Given the description of an element on the screen output the (x, y) to click on. 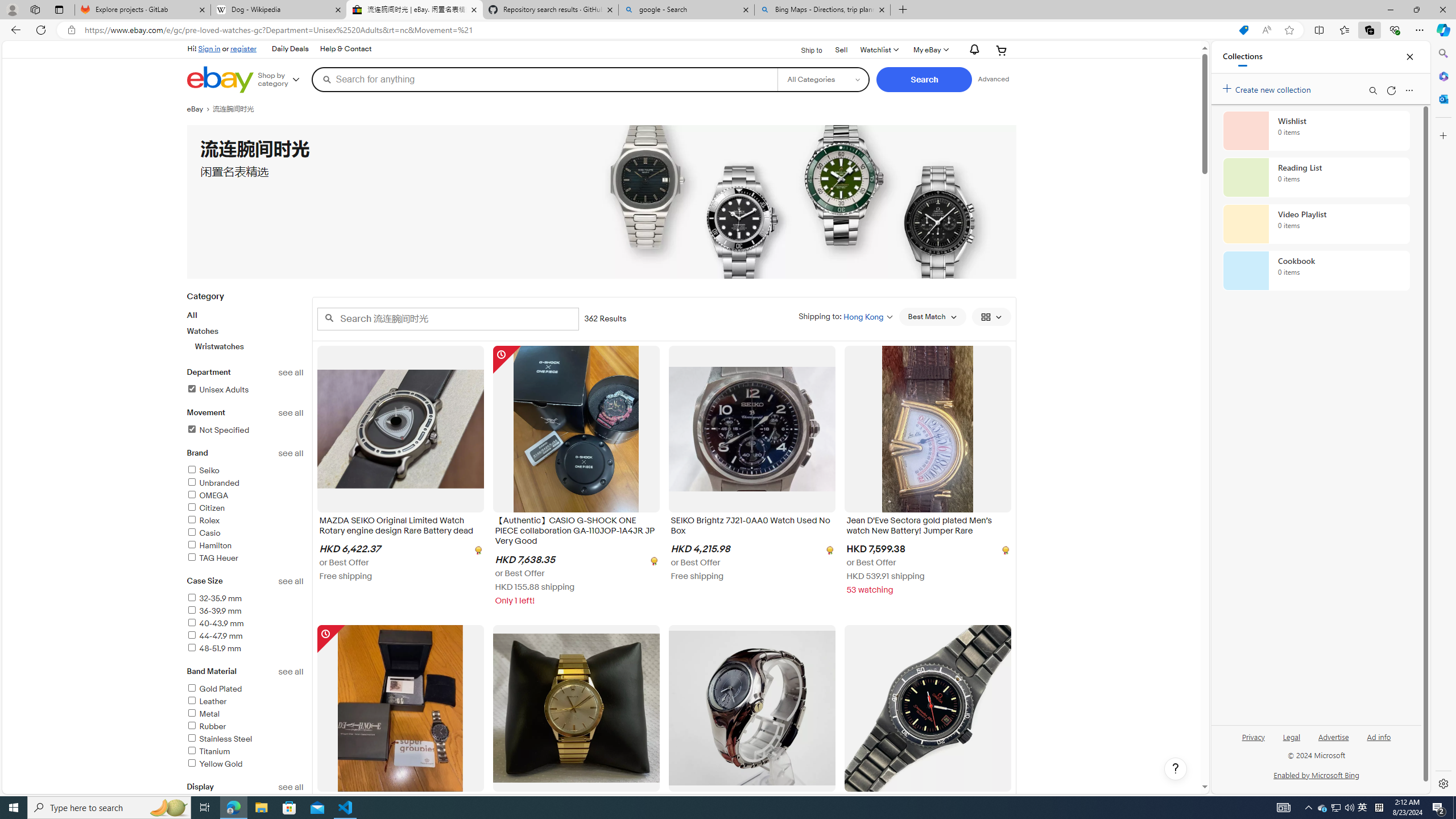
Sell (841, 49)
register (243, 48)
Hamilton (245, 546)
Select a category for search (823, 78)
eBay (199, 108)
Cookbook collection, 0 items (1316, 270)
Not Specified Filter Applied (217, 429)
Citizen (245, 508)
Unbranded (245, 483)
